Given the description of an element on the screen output the (x, y) to click on. 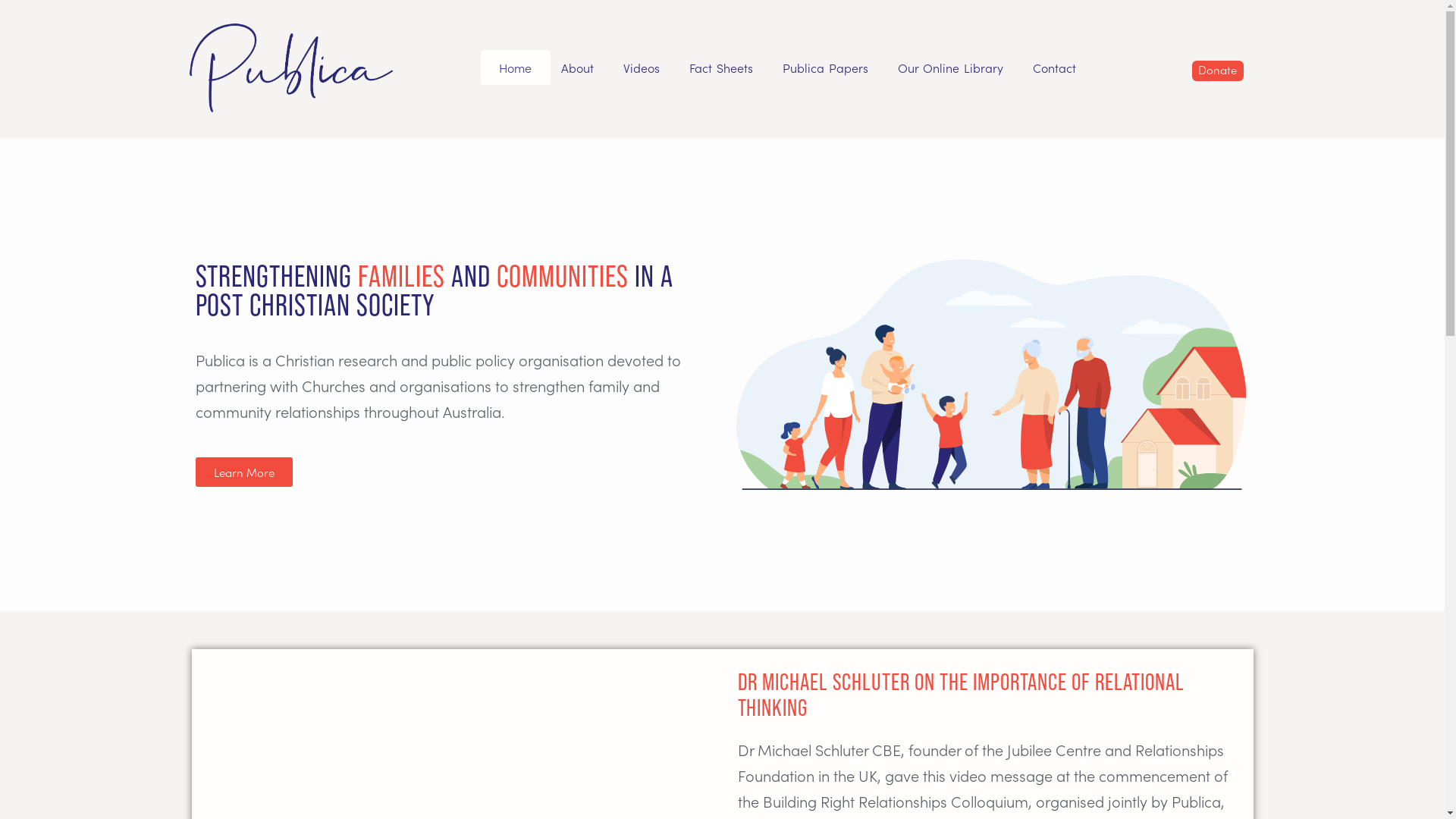
About Element type: text (577, 67)
Publica Papers Element type: text (824, 67)
Learn More Element type: text (243, 471)
Videos Element type: text (641, 67)
Contact Element type: text (1053, 67)
Home Element type: text (515, 67)
Our Online Library Element type: text (949, 67)
Fact Sheets Element type: text (721, 67)
Donate Element type: text (1217, 70)
